Given the description of an element on the screen output the (x, y) to click on. 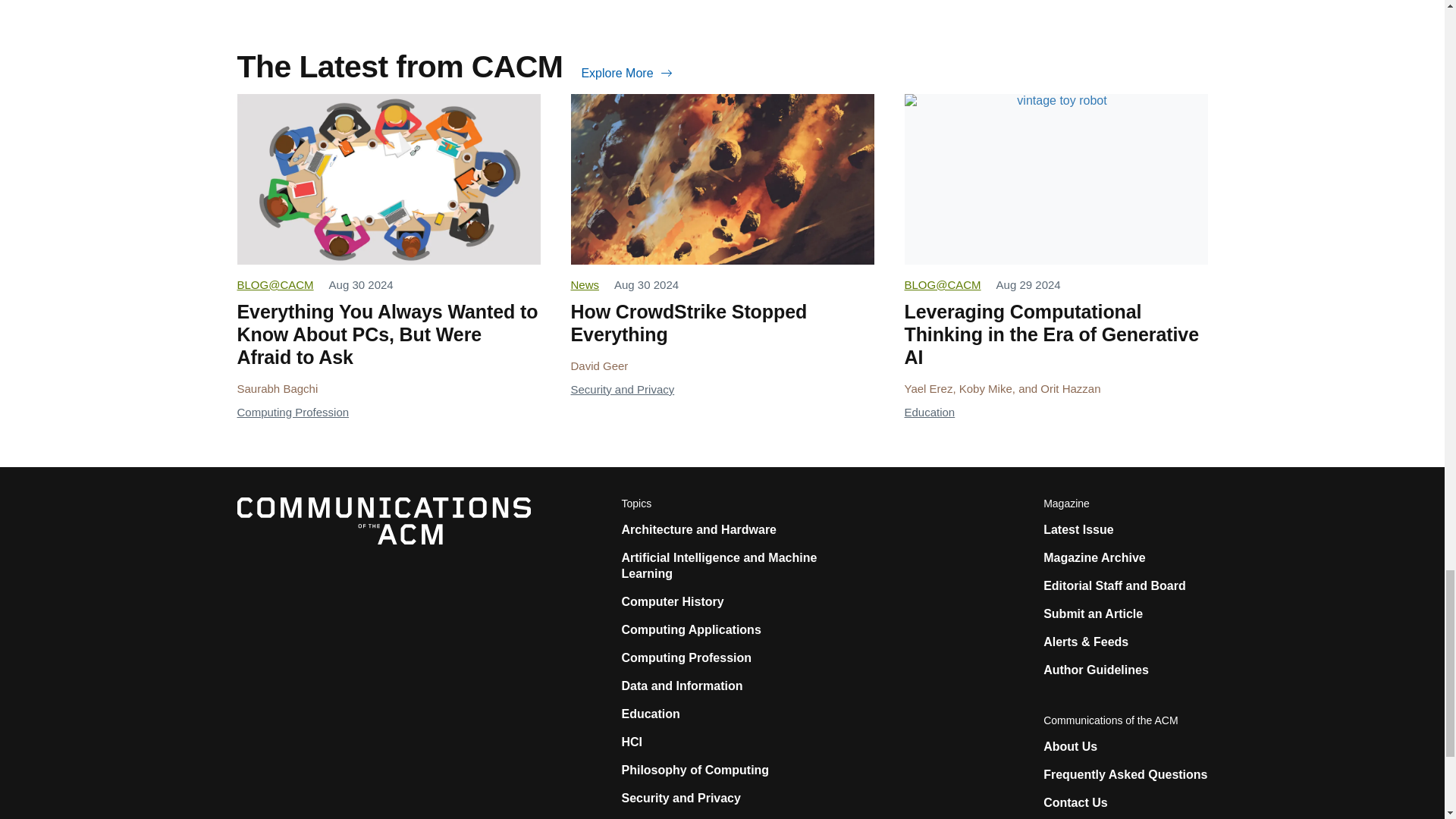
Posts by Saurabh Bagchi (276, 388)
Posts by Koby Mike (985, 388)
Posts by Yael Erez (928, 388)
Posts by David Geer (598, 365)
Posts by Orit Hazzan (1070, 388)
